Given the description of an element on the screen output the (x, y) to click on. 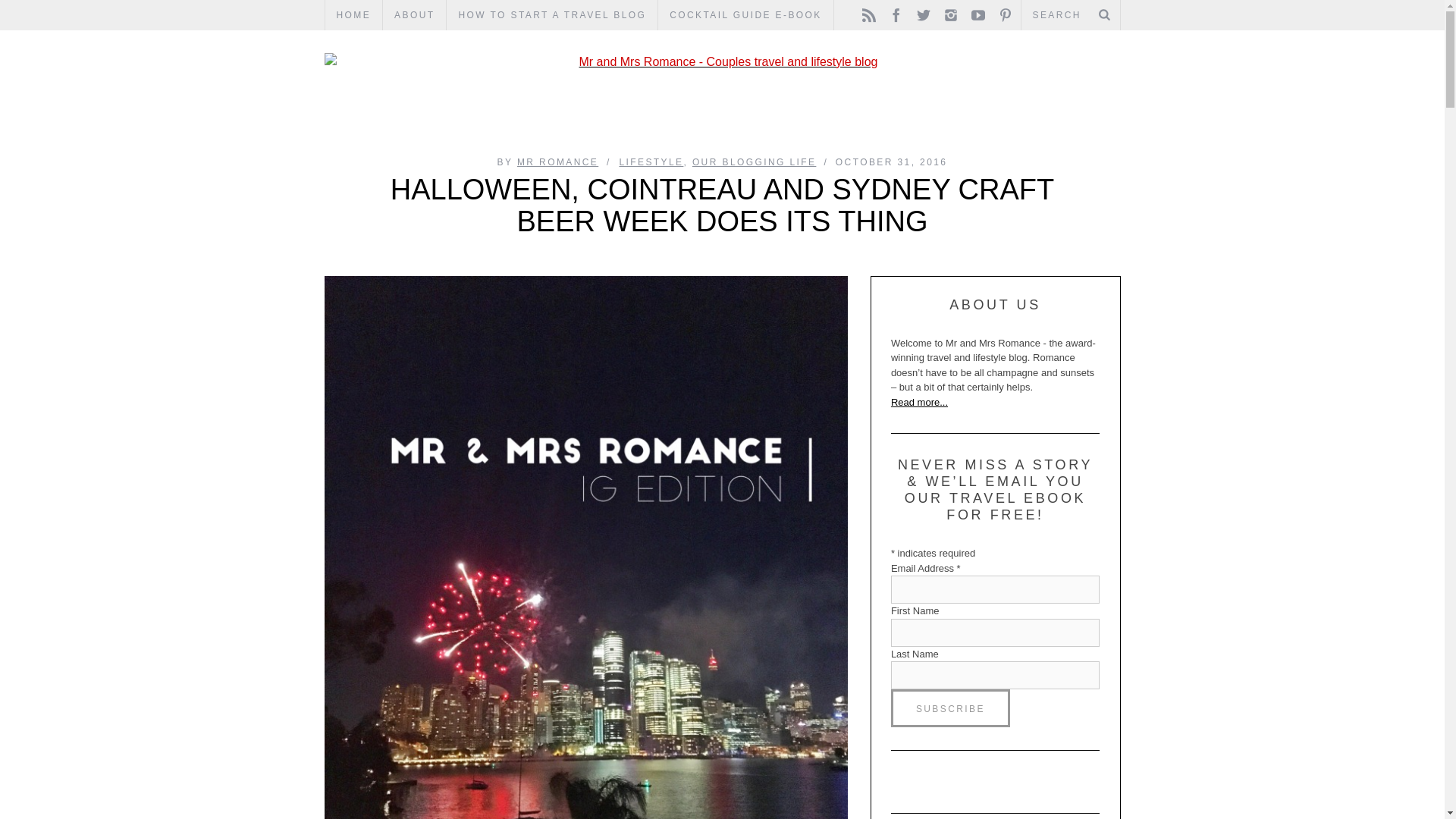
Subscribe (950, 708)
Search (1070, 15)
ABOUT (413, 14)
HOME (352, 14)
HOW TO START A TRAVEL BLOG (552, 14)
Mr and Mrs Romance - Couples travel and lifestyle blog (722, 62)
COCKTAIL GUIDE E-BOOK (745, 14)
